Given the description of an element on the screen output the (x, y) to click on. 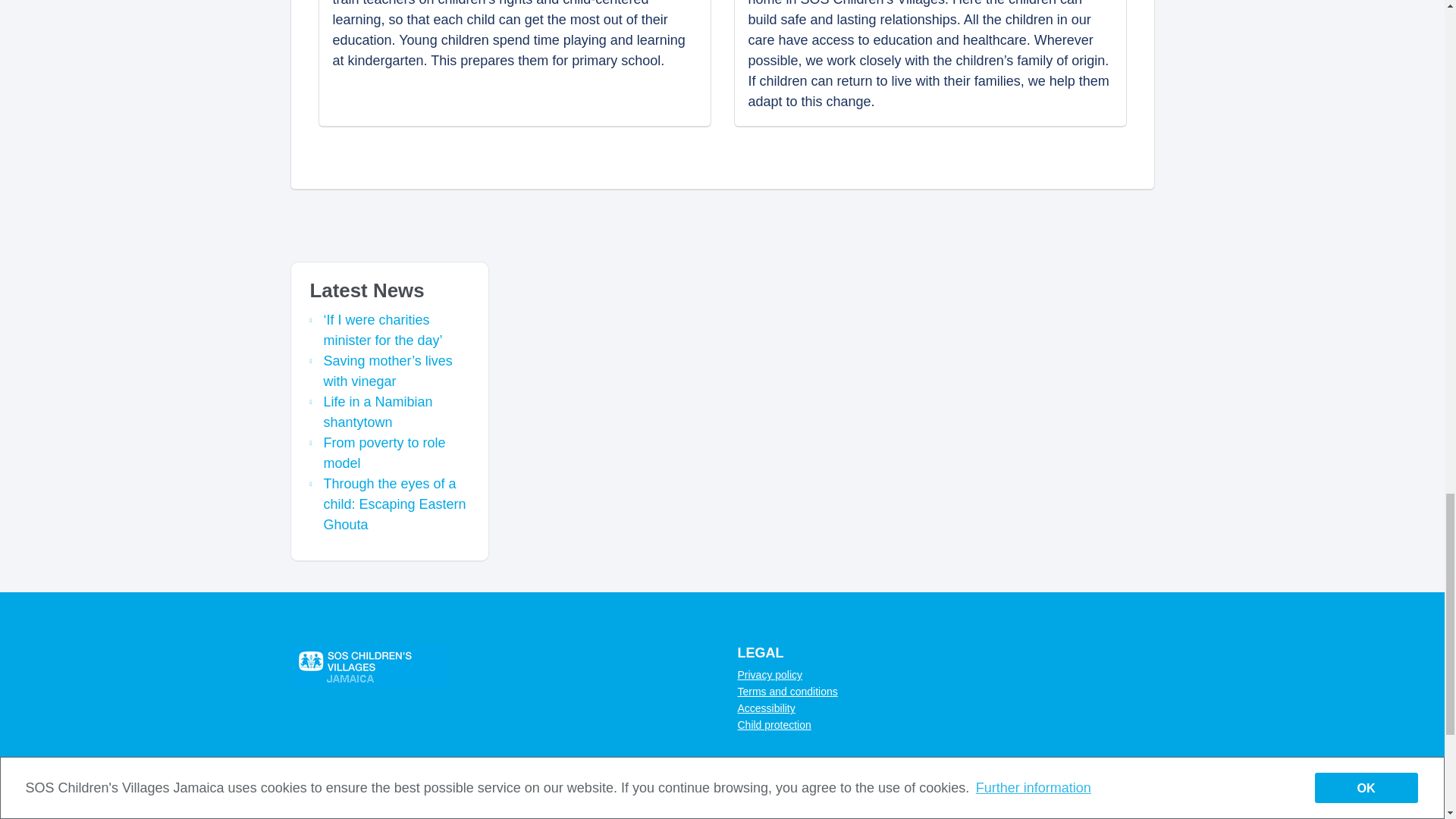
Child protection (773, 725)
From poverty to role model (384, 452)
SIGN UP NOW (804, 817)
Through the eyes of a child: Escaping Eastern Ghouta (394, 503)
Terms and conditions (786, 691)
Privacy policy (769, 674)
Life in a Namibian shantytown (377, 411)
CONTACT US (338, 789)
Accessibility (765, 707)
